Given the description of an element on the screen output the (x, y) to click on. 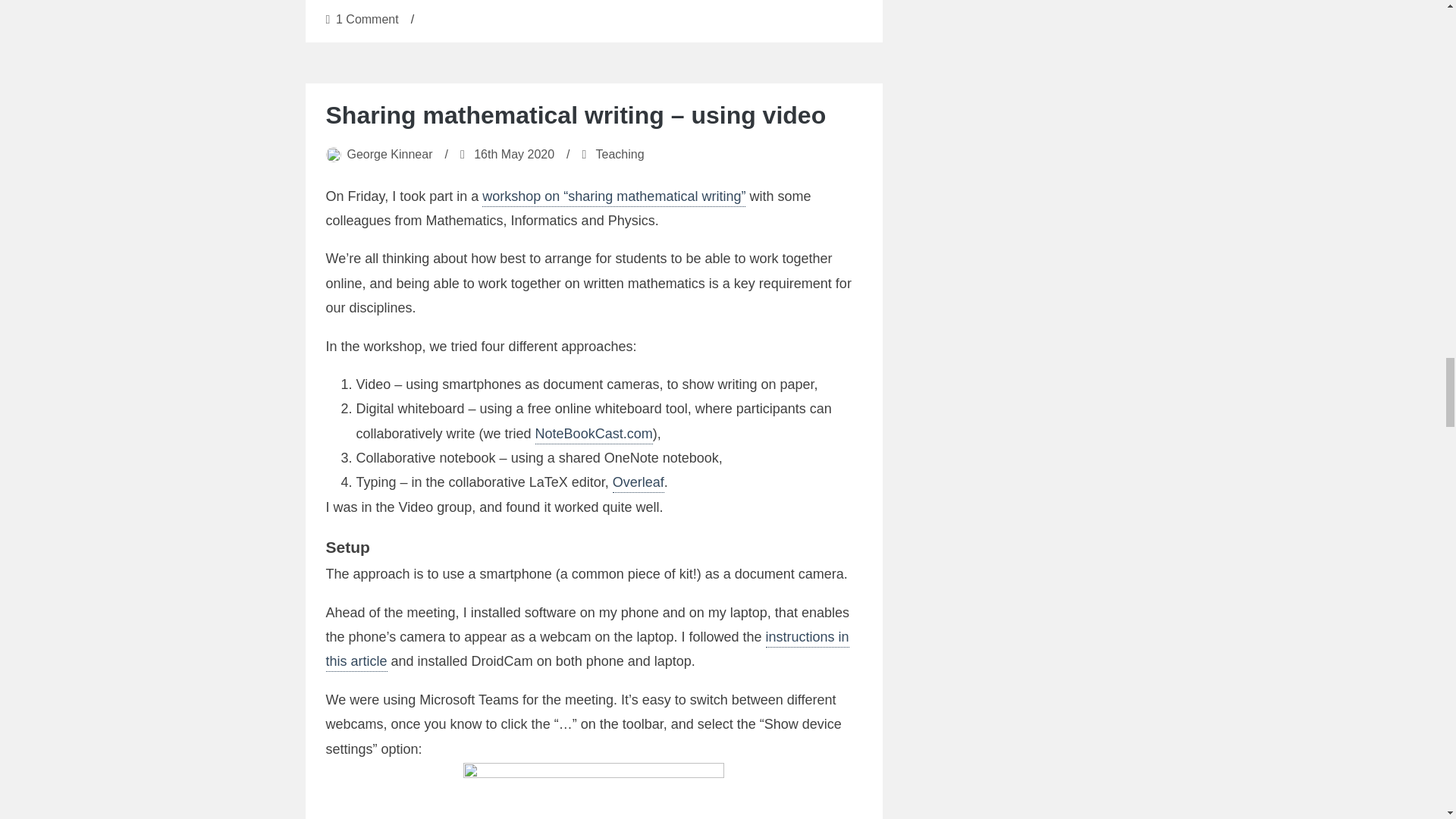
George Kinnear (367, 19)
Teaching (389, 154)
NoteBookCast.com (620, 154)
16th May 2020 (593, 434)
Overleaf (514, 154)
instructions in this article (637, 484)
